Given the description of an element on the screen output the (x, y) to click on. 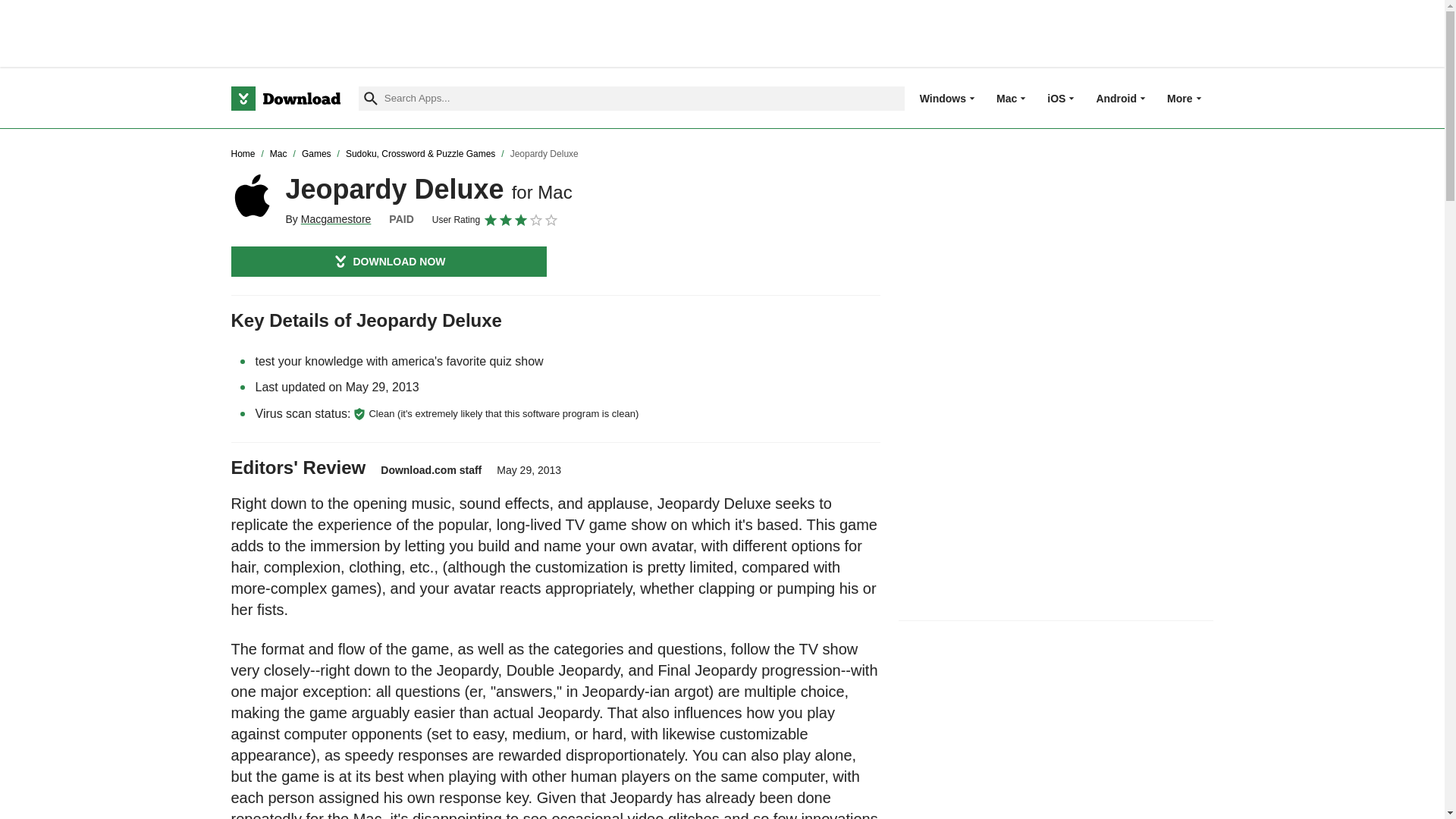
Mac (1005, 97)
Jeopardy Deluxe for Mac (251, 195)
Windows (943, 97)
